Given the description of an element on the screen output the (x, y) to click on. 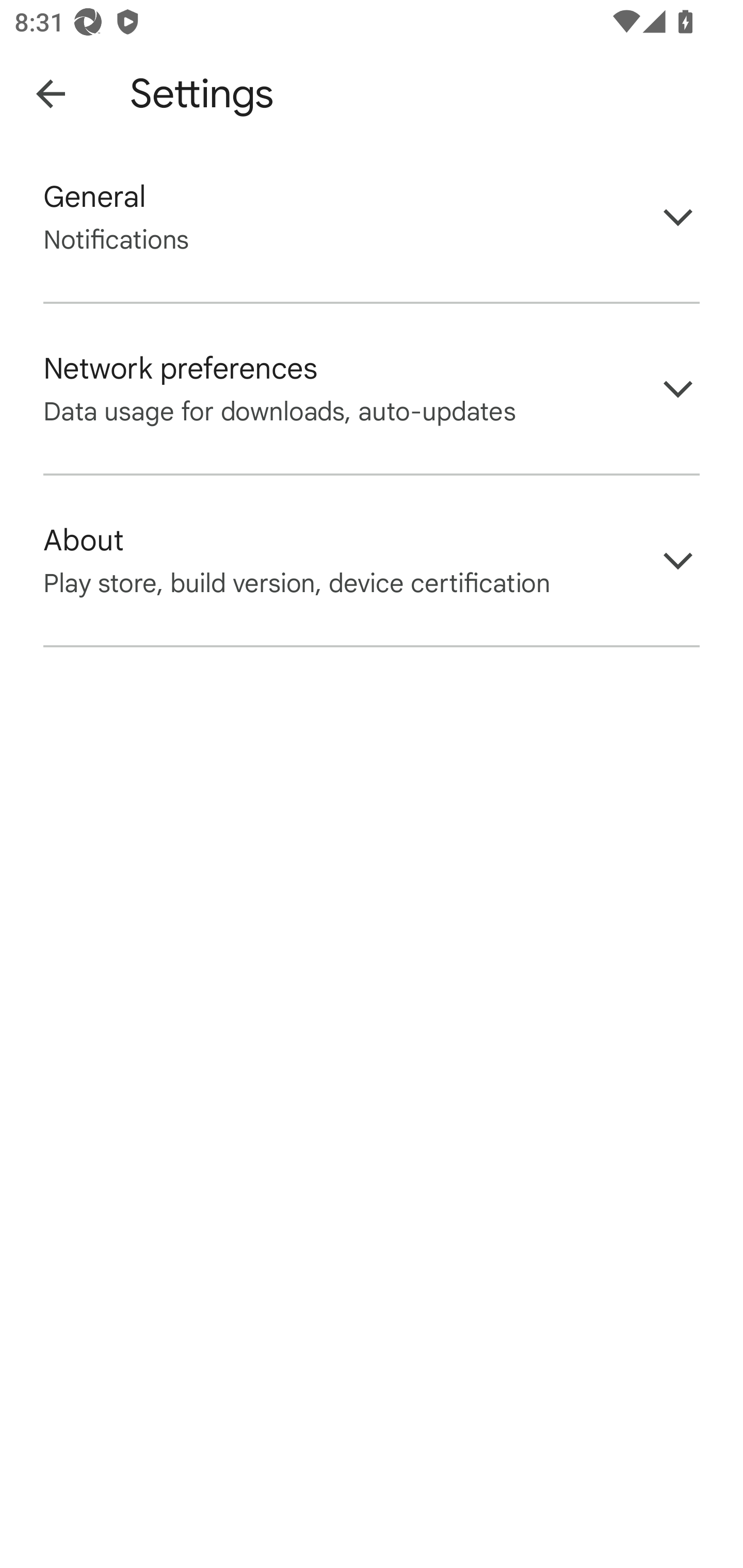
Navigate up (50, 93)
